Given the description of an element on the screen output the (x, y) to click on. 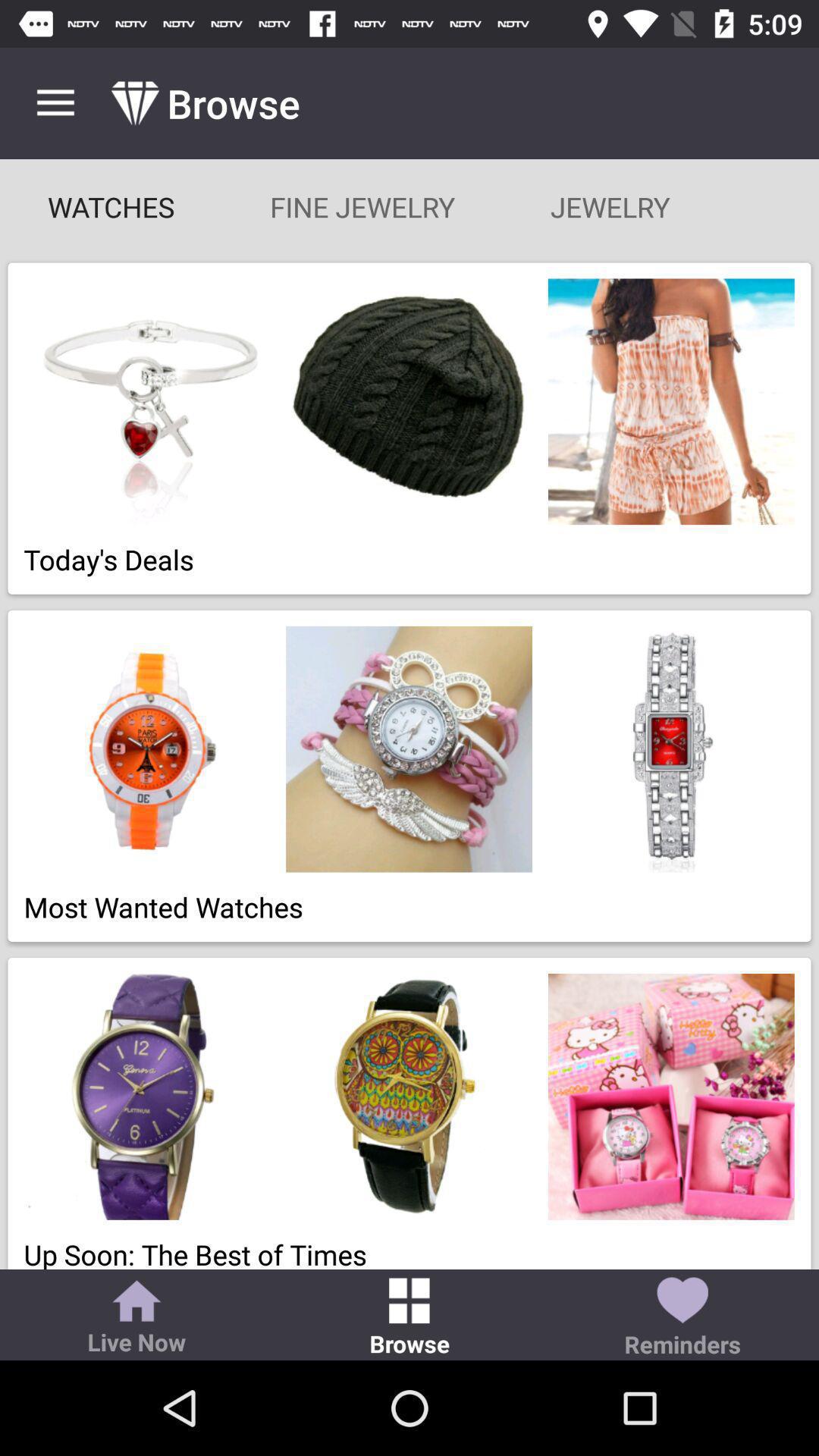
turn on the reminders (682, 1318)
